Given the description of an element on the screen output the (x, y) to click on. 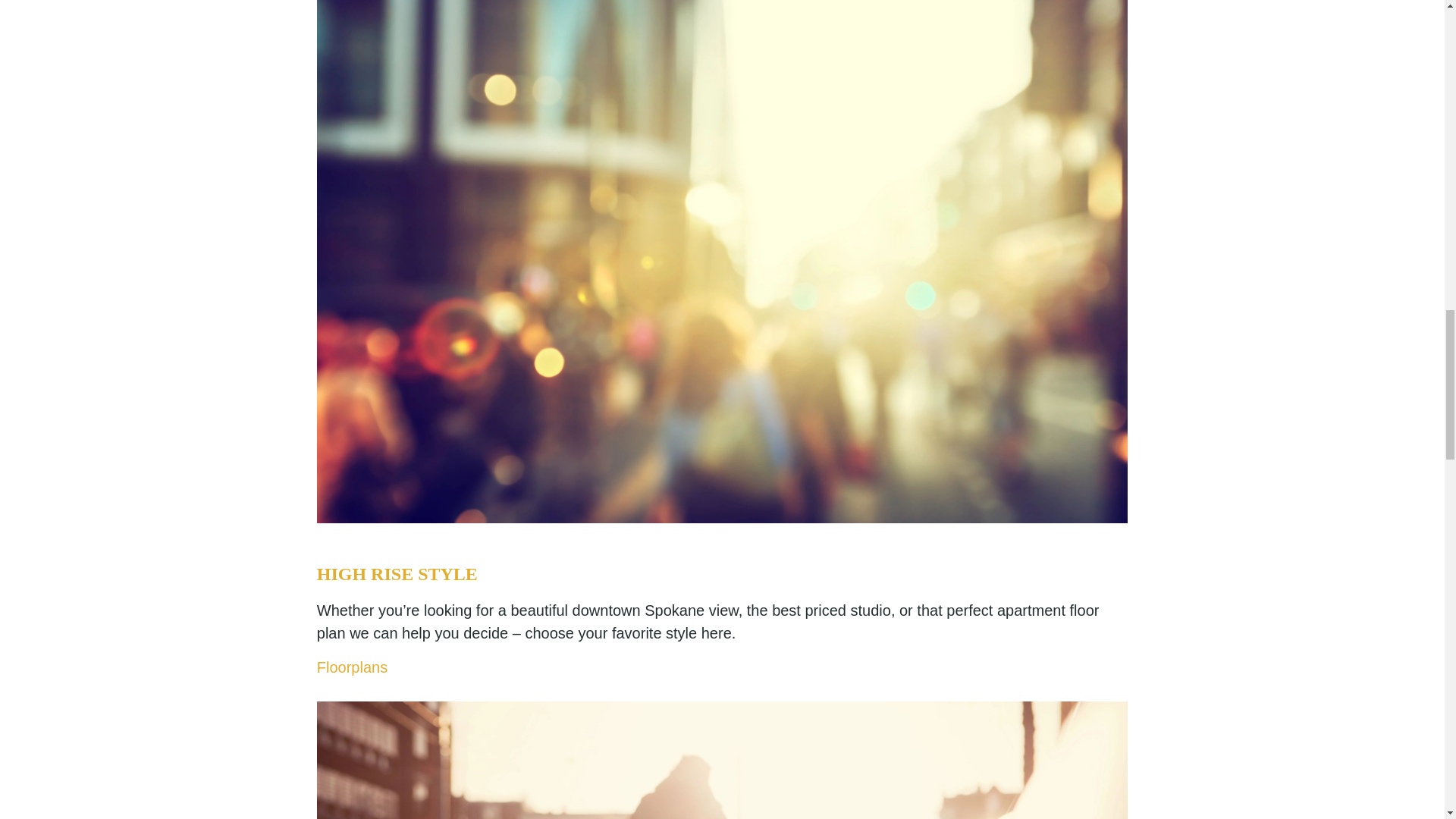
Floorplans (352, 667)
qtq80-ZvjQcp (721, 760)
HIGH RISE STYLE (397, 573)
